Given the description of an element on the screen output the (x, y) to click on. 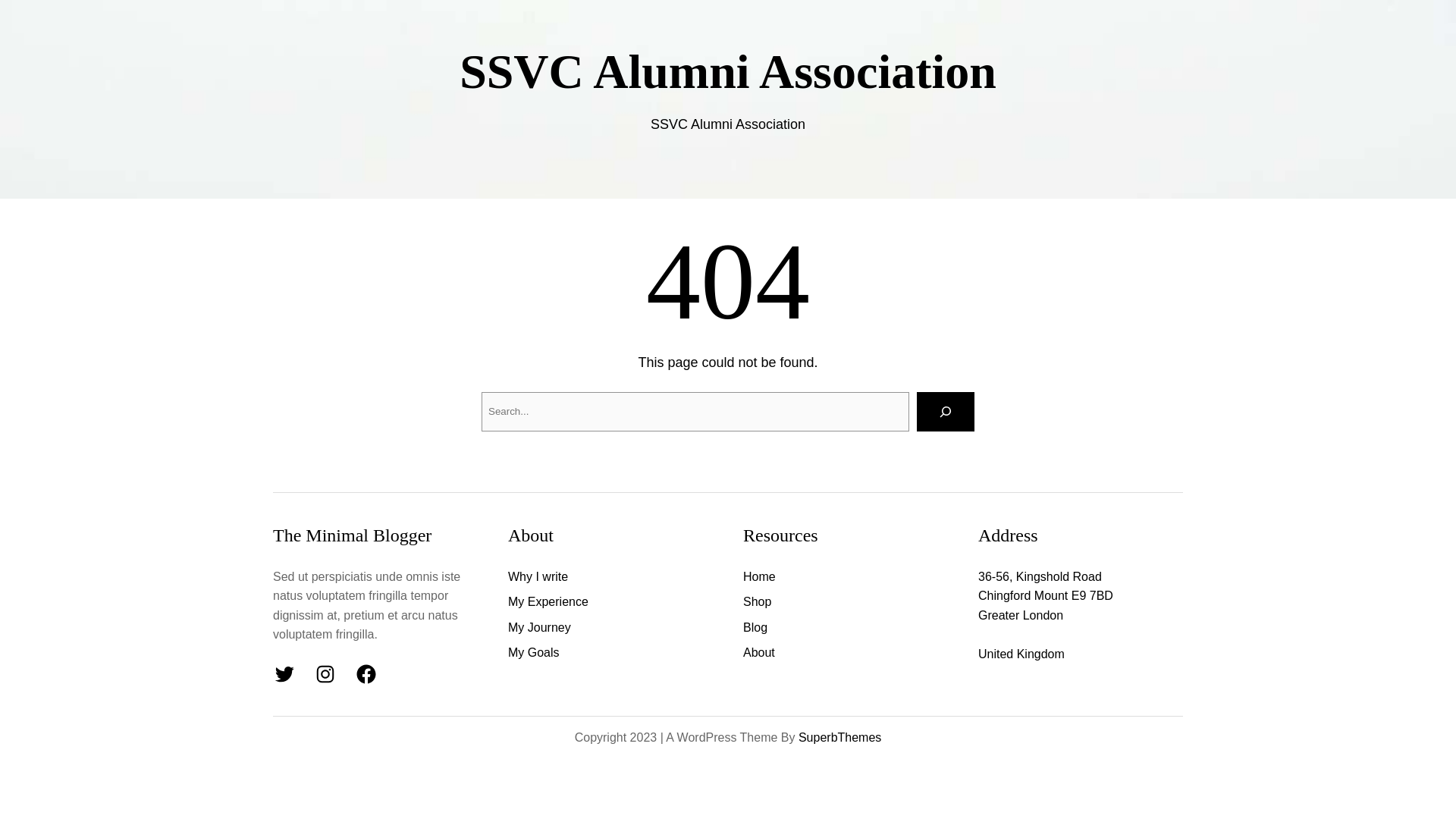
Home (759, 577)
Shop (756, 601)
My Goals (533, 652)
My Journey (539, 628)
SuperbThemes (838, 737)
Blog (754, 628)
My Experience (548, 601)
SSVC Alumni Association (727, 71)
Facebook (366, 673)
Twitter (284, 673)
